Given the description of an element on the screen output the (x, y) to click on. 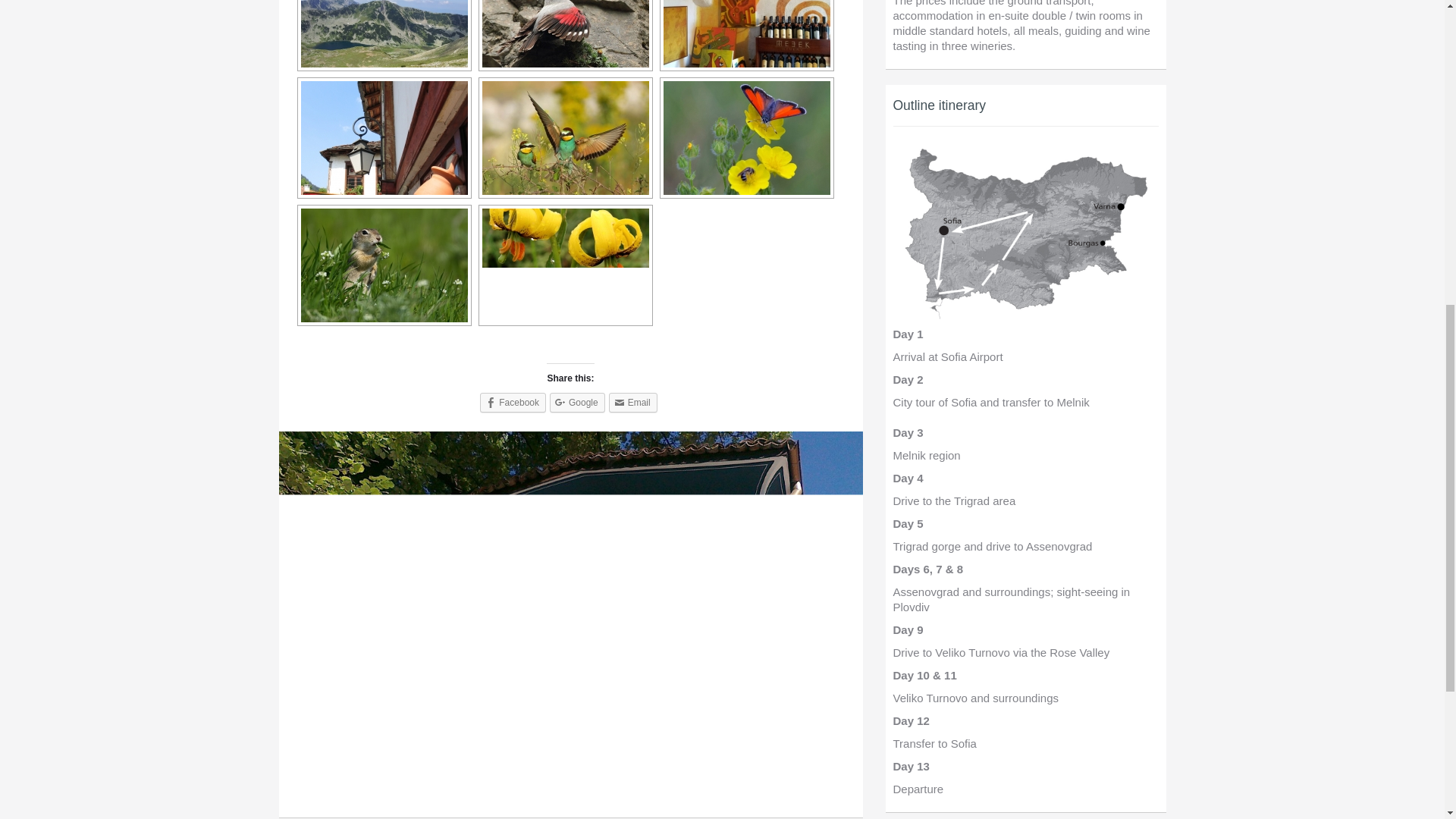
Balkan Copper by Dimiter Georgiev (745, 137)
Wallcreeper by Mladen Vasilev (563, 35)
European Souslik by Mladen Vasilev (382, 264)
Traditional Bulgarian houses (382, 137)
A view from the Pirin Mountain by Dimiter Georgiev (382, 35)
A corner in the small family-run winery of Mezzek (745, 35)
European Bee-eaters by Mladen Vasilev (563, 137)
